Given the description of an element on the screen output the (x, y) to click on. 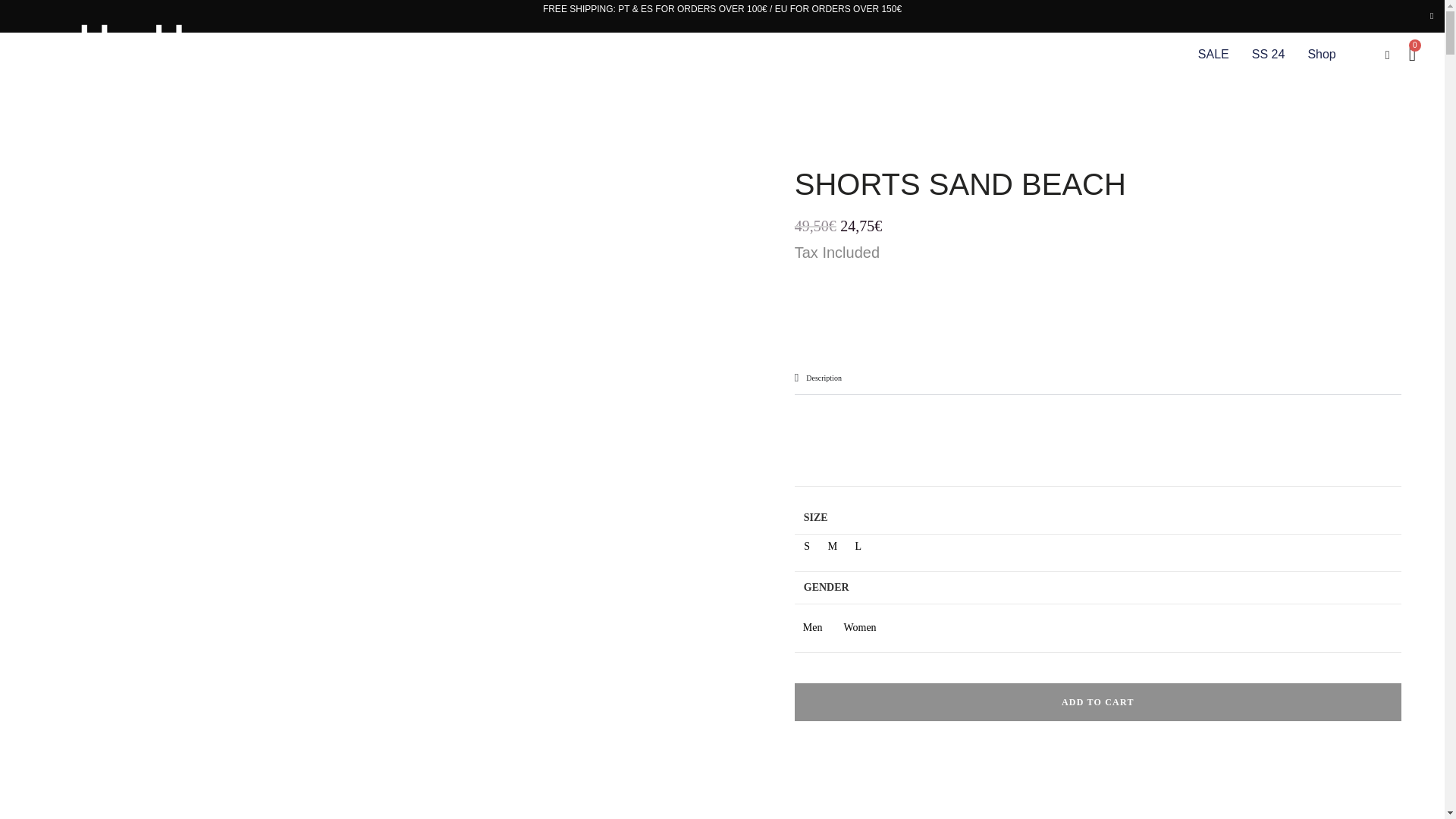
S (806, 546)
SALE (1213, 54)
SS 24 (1268, 54)
Shop (1321, 54)
